Given the description of an element on the screen output the (x, y) to click on. 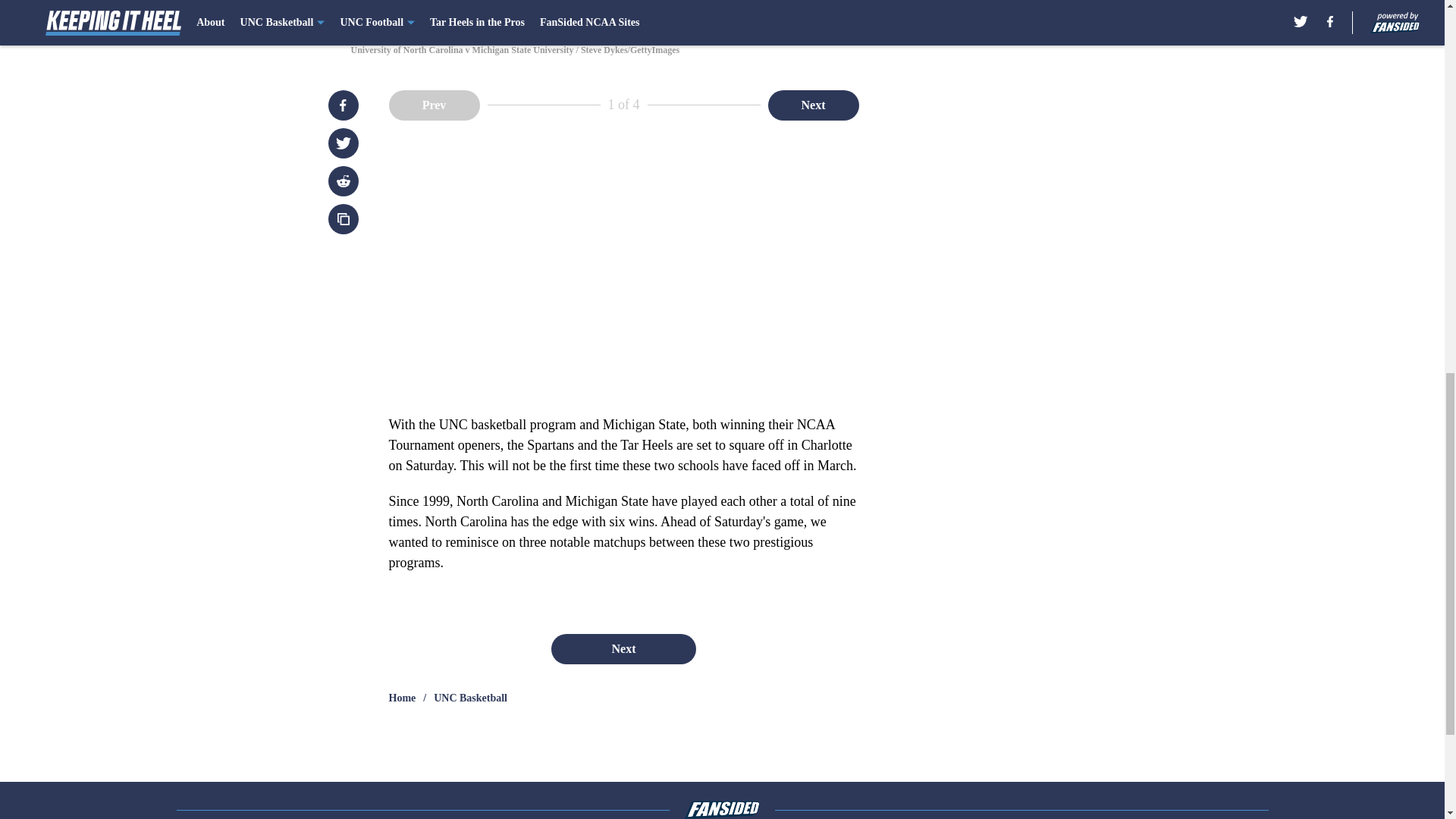
Next (813, 104)
Home (401, 698)
Next (622, 648)
University of North Carolina v Michigan State University (721, 14)
UNC Basketball (469, 698)
Prev (433, 104)
